Given the description of an element on the screen output the (x, y) to click on. 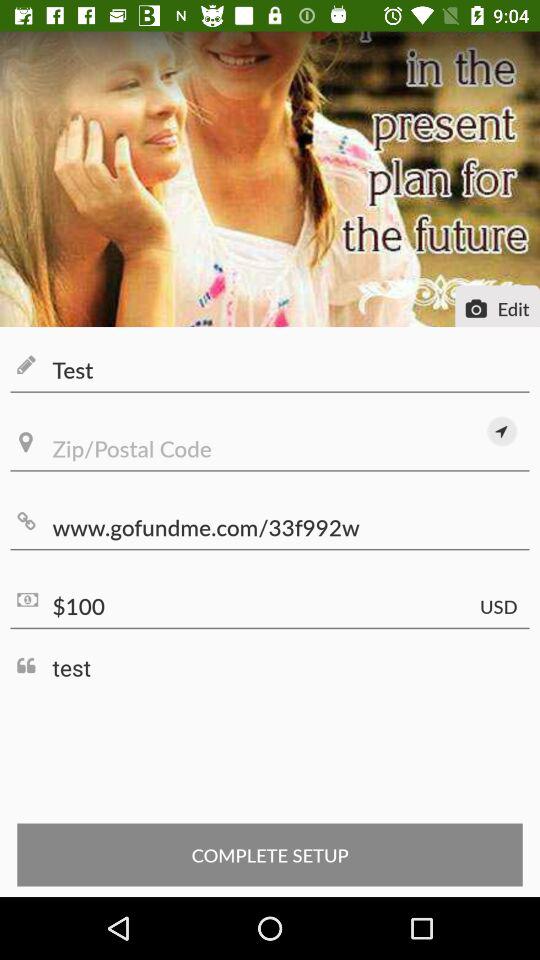
scroll until complete setup (269, 854)
